Given the description of an element on the screen output the (x, y) to click on. 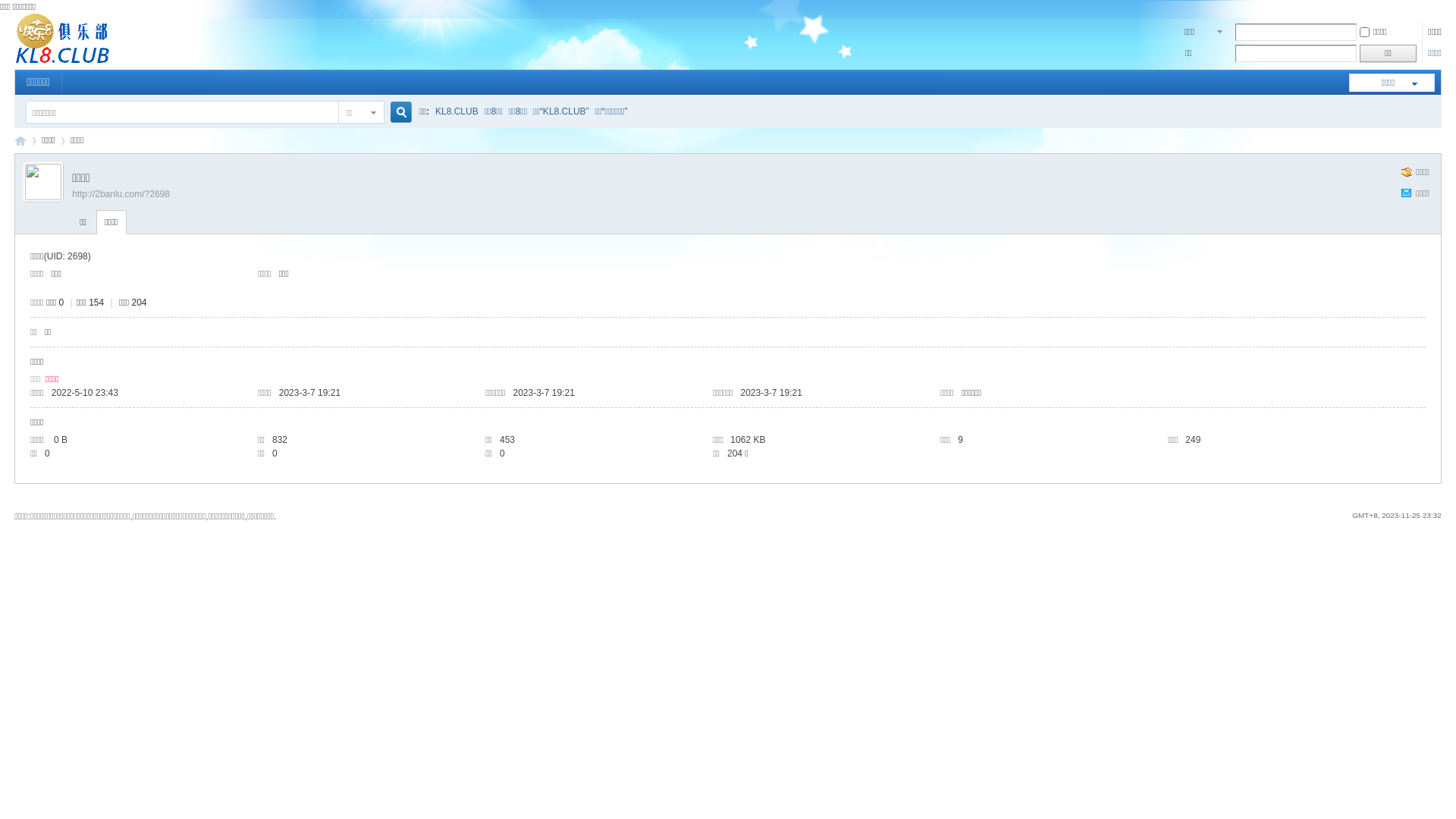
true Element type: text (395, 112)
KL8.CLUB Element type: text (456, 111)
http://2banlu.com/?2698 Element type: text (120, 193)
